Given the description of an element on the screen output the (x, y) to click on. 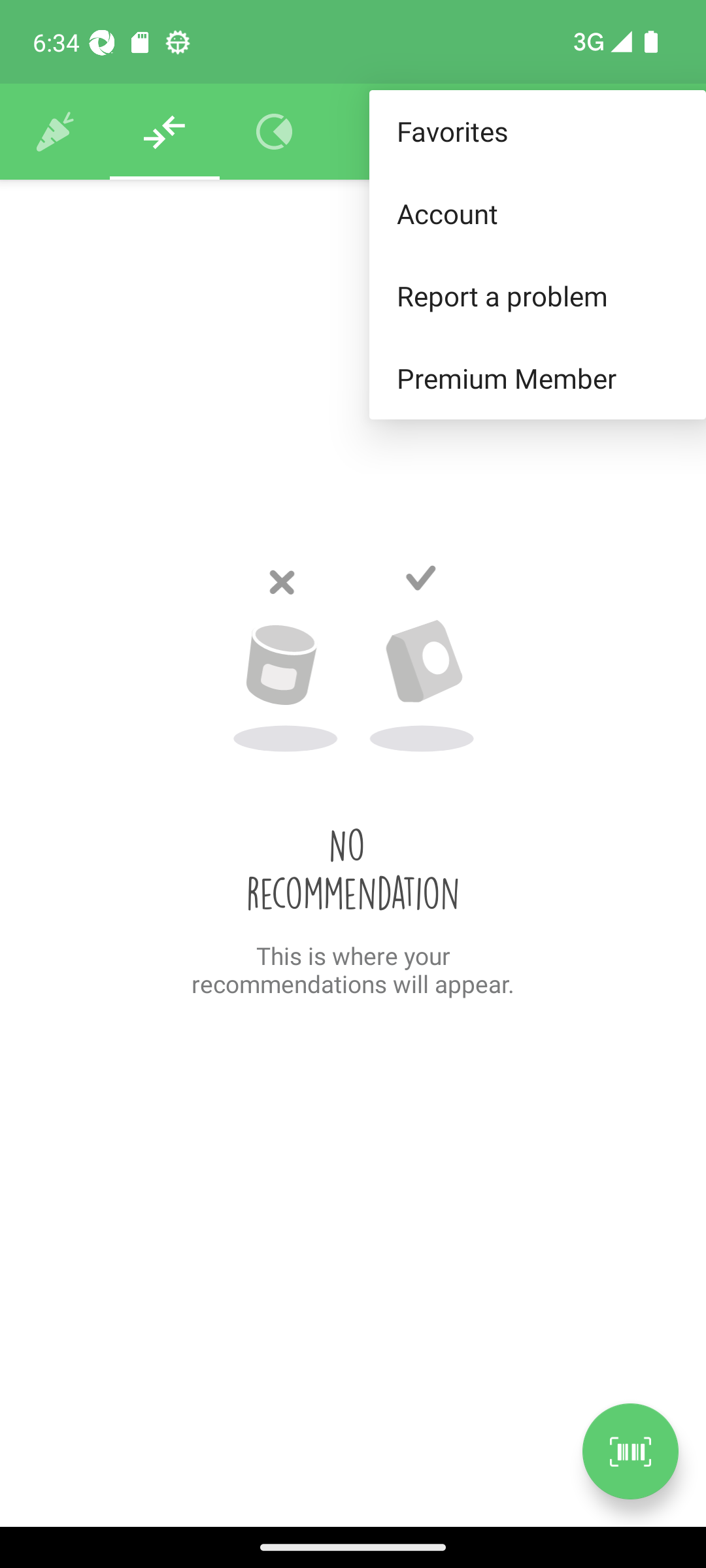
Favorites (537, 131)
Account (537, 213)
Report a problem (537, 295)
Premium Member (537, 378)
